Given the description of an element on the screen output the (x, y) to click on. 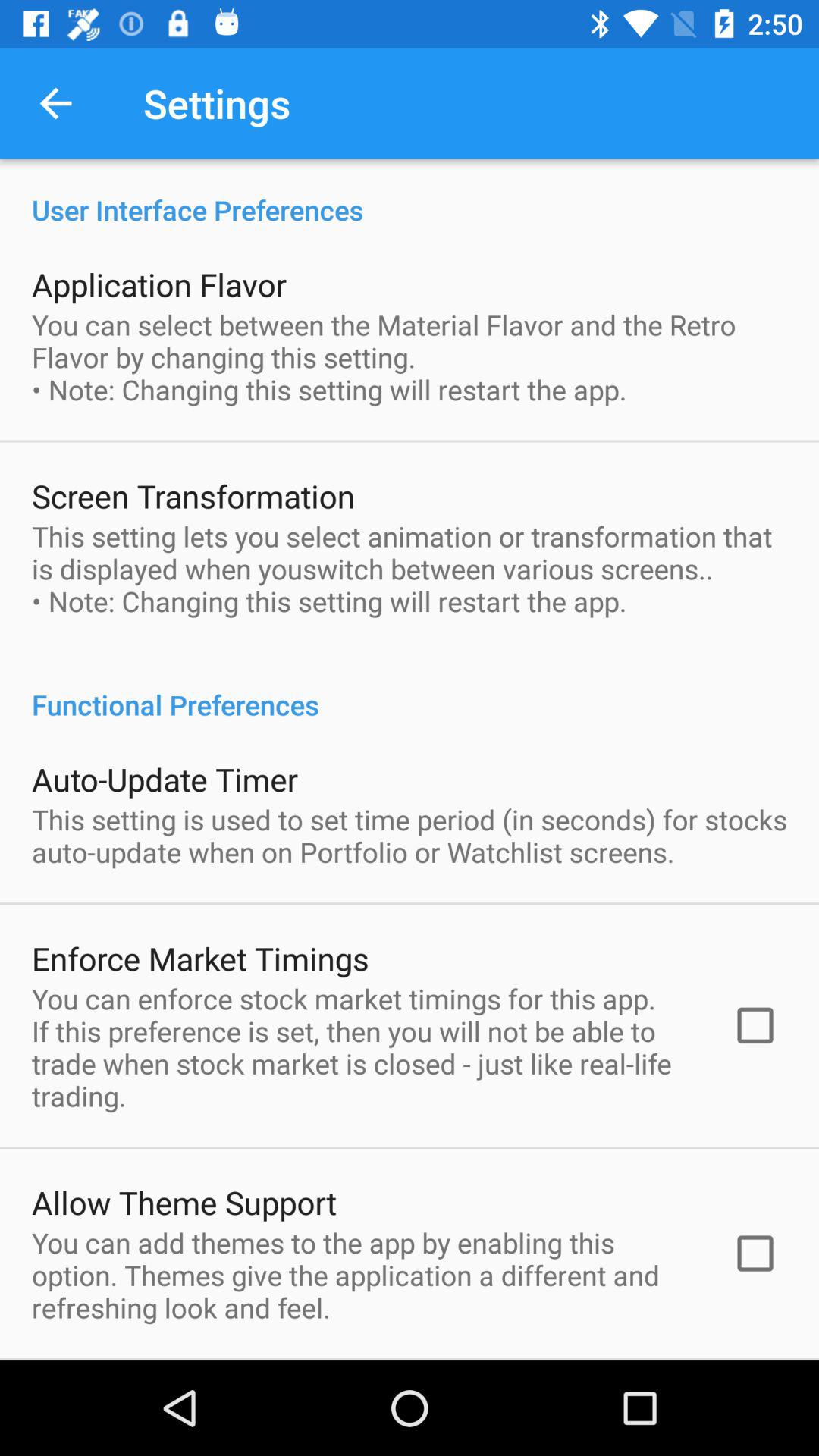
launch the screen transformation item (192, 495)
